Given the description of an element on the screen output the (x, y) to click on. 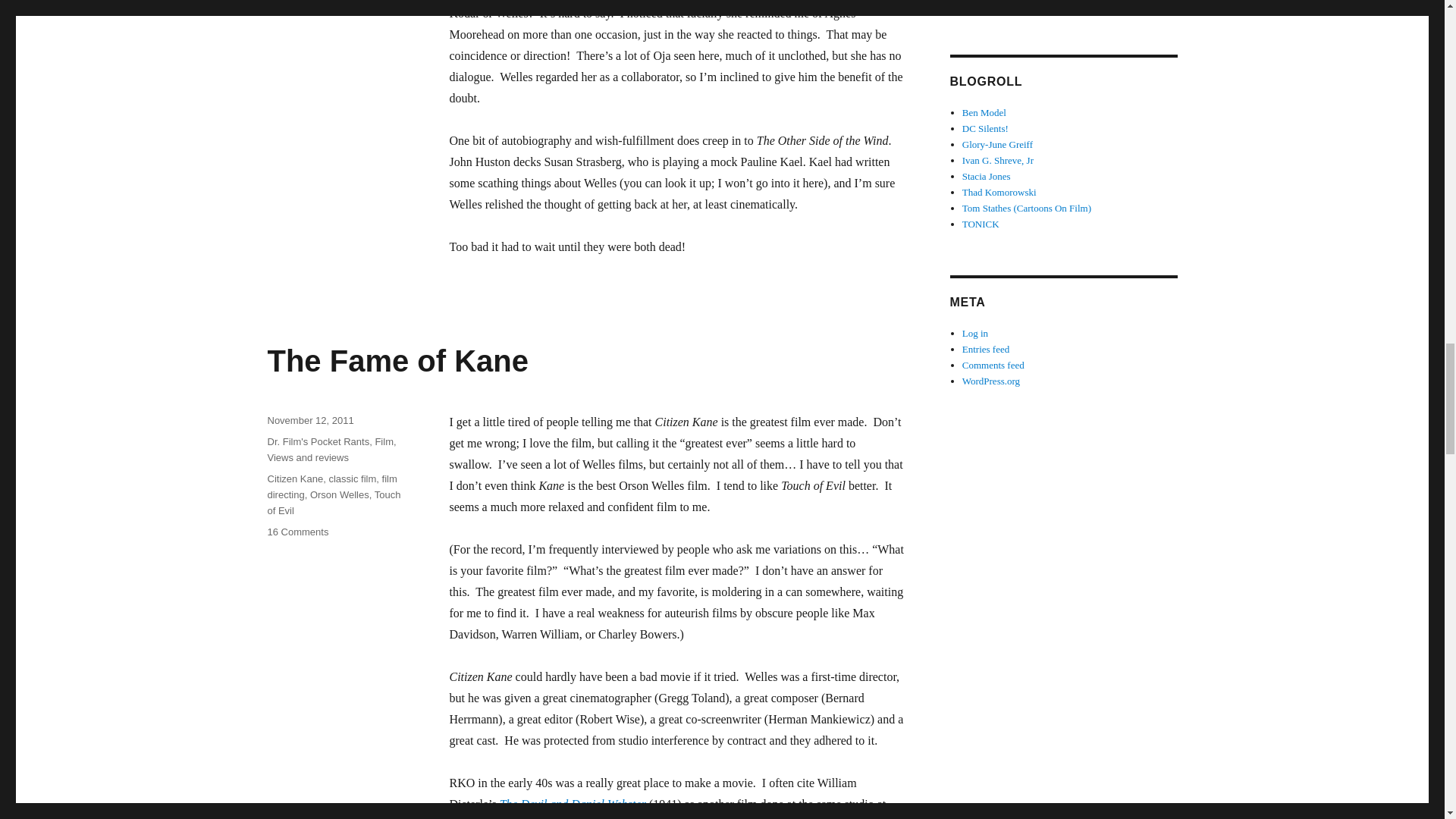
Touch of Evil (333, 502)
Orson Welles (339, 494)
Nice animation blog (999, 192)
Film (383, 441)
The Devil and Daniel Webster (572, 803)
Citizen Kane (294, 478)
Thrilling Days of Yesteryear (997, 160)
The Devil and Daniel Webster (572, 803)
Another blog about vintage cartoons (1026, 207)
The Fame of Kane (397, 360)
classic film (352, 478)
Dr. Film's Pocket Rants (317, 441)
She Blogged by Night (297, 531)
Views and reviews (986, 175)
